Given the description of an element on the screen output the (x, y) to click on. 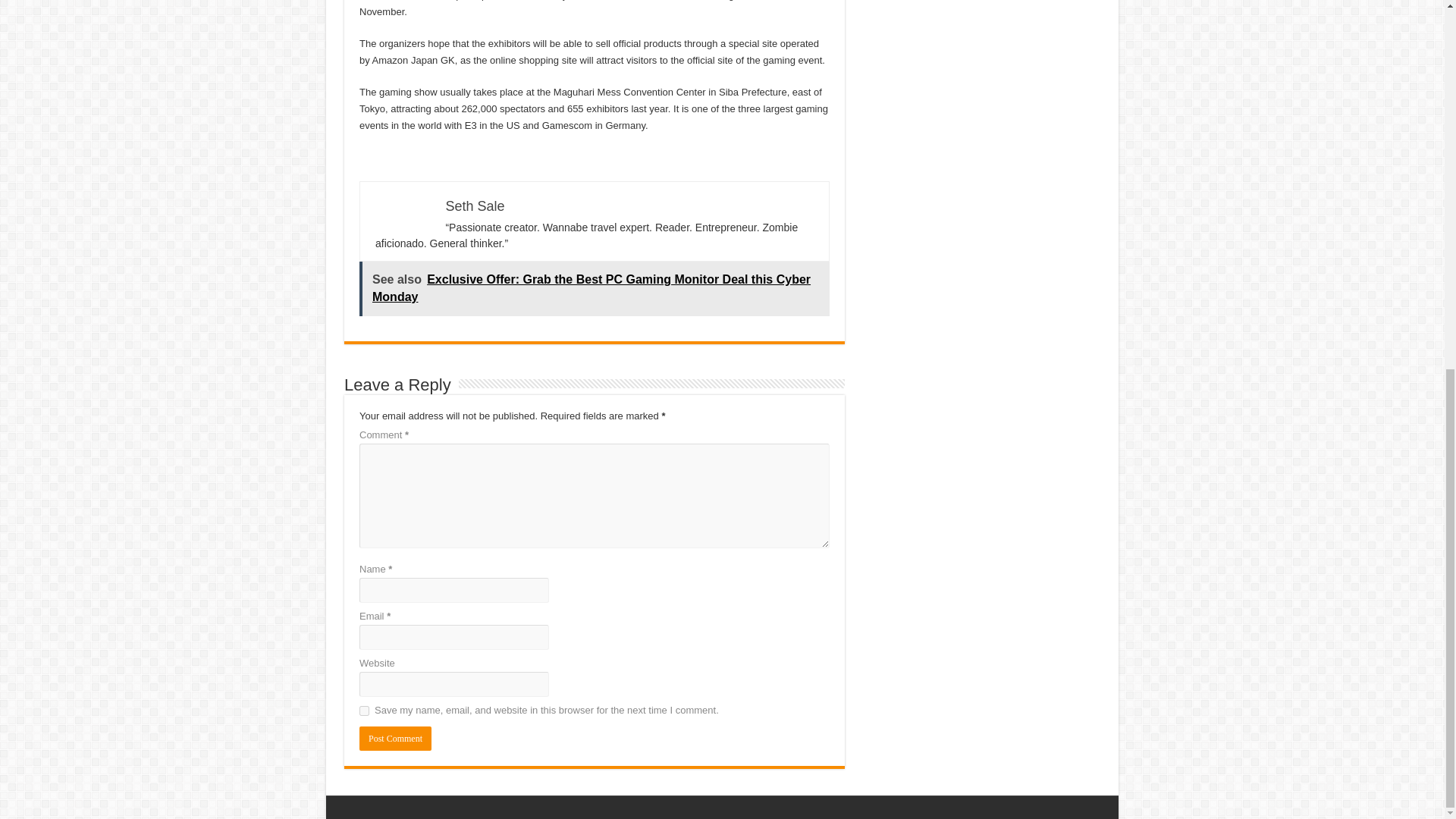
yes (364, 710)
Post Comment (394, 738)
Post Comment (394, 738)
Seth Sale (474, 206)
